Given the description of an element on the screen output the (x, y) to click on. 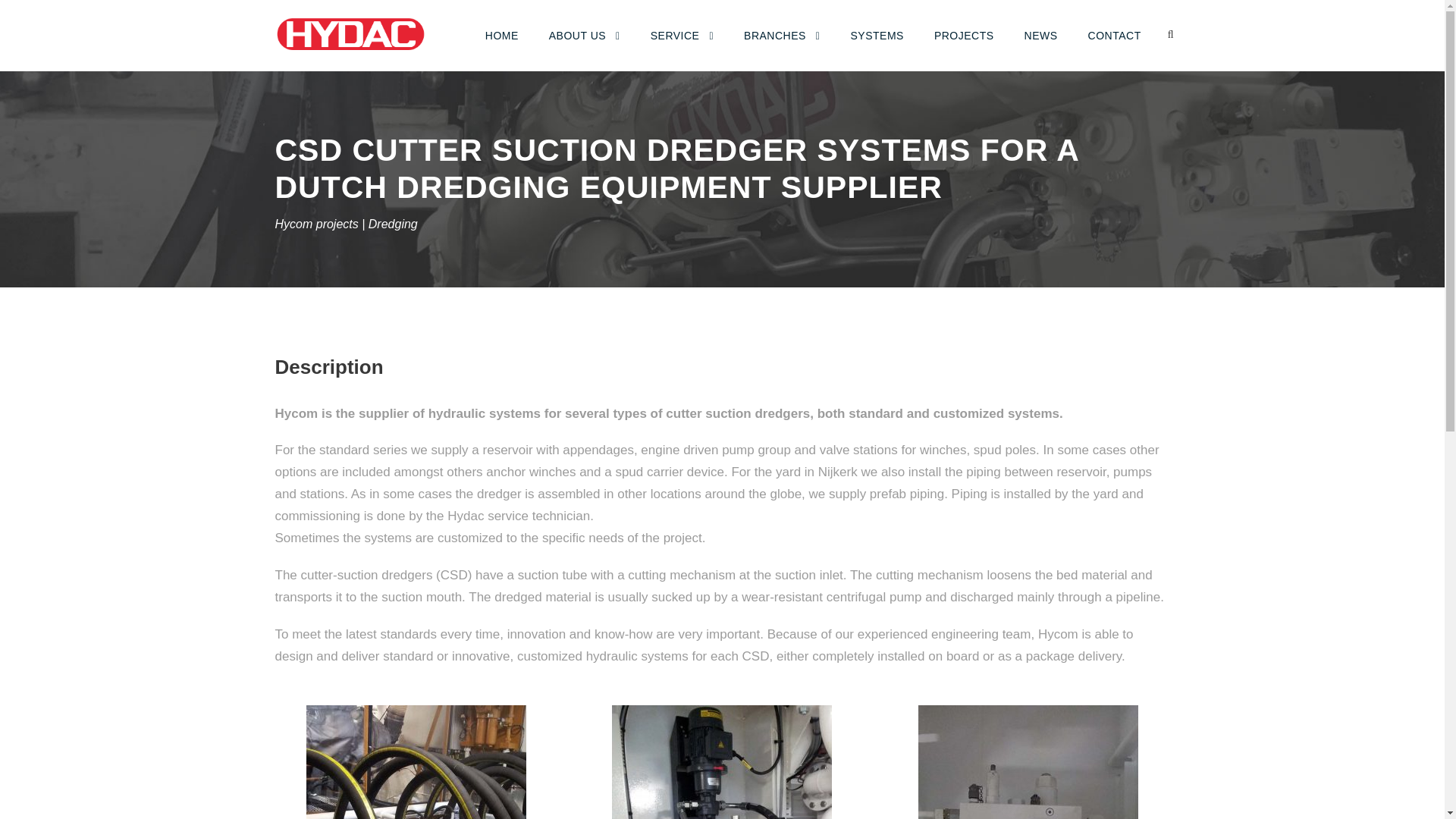
Hydraulic system (415, 762)
Hydraulic manifold (1028, 762)
Dewatering system (721, 762)
ABOUT US (584, 49)
hydac-logo (350, 33)
